Given the description of an element on the screen output the (x, y) to click on. 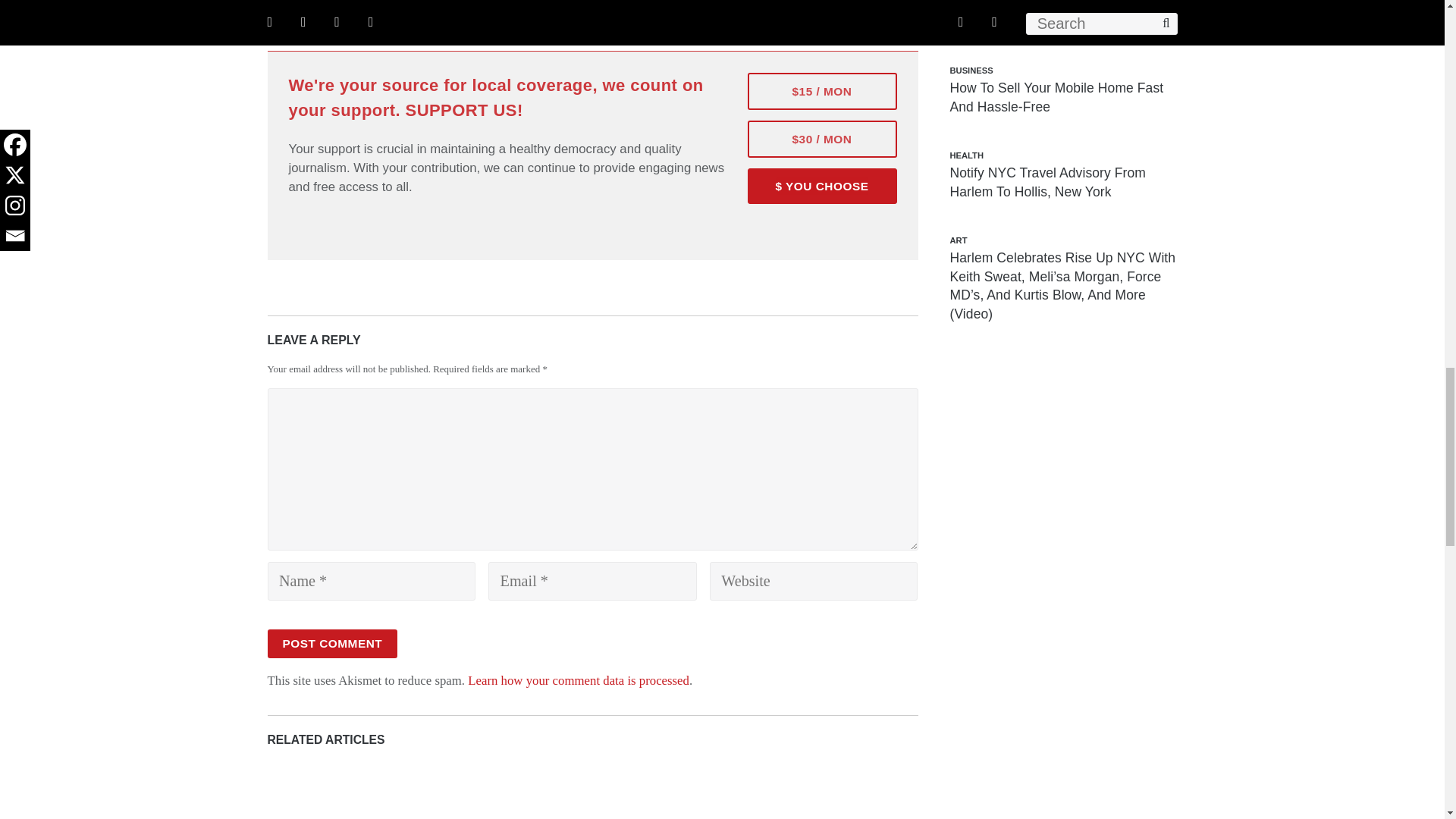
Post Comment (331, 643)
A Little Soul for Christmas (524, 3)
Harlem To Hollywood (700, 3)
Amazon (599, 3)
